Given the description of an element on the screen output the (x, y) to click on. 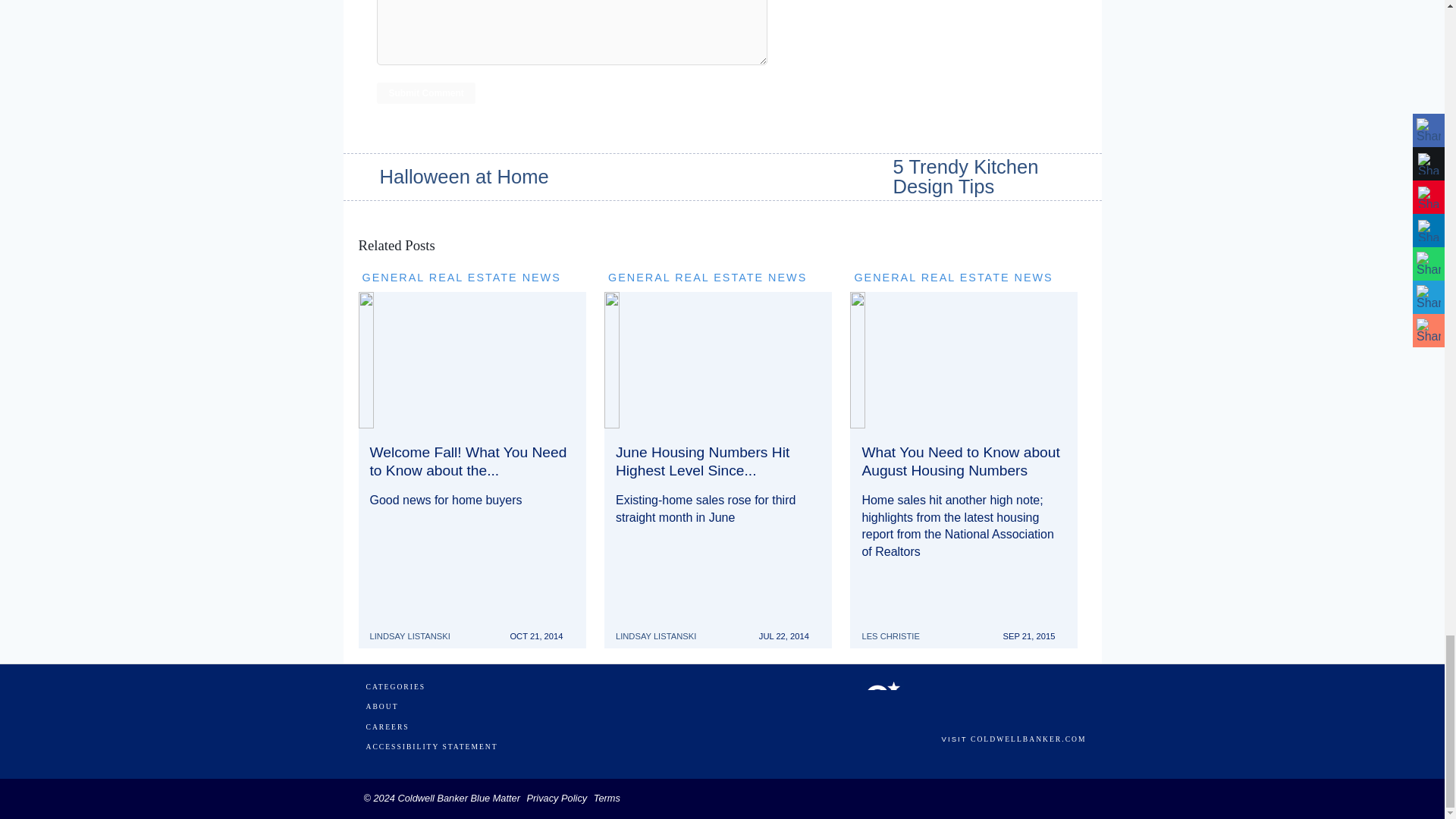
Posts by Lindsay Listanski (415, 628)
Posts by Lindsay Listanski (661, 628)
Submit Comment (425, 93)
Halloween at Home (446, 177)
GENERAL REAL ESTATE NEWS (461, 277)
Posts by Les Christie (895, 628)
5 Trendy Kitchen Design Tips (997, 177)
5 Trendy Kitchen Design Tips (997, 177)
Halloween at Home (446, 177)
Submit Comment (425, 93)
